Given the description of an element on the screen output the (x, y) to click on. 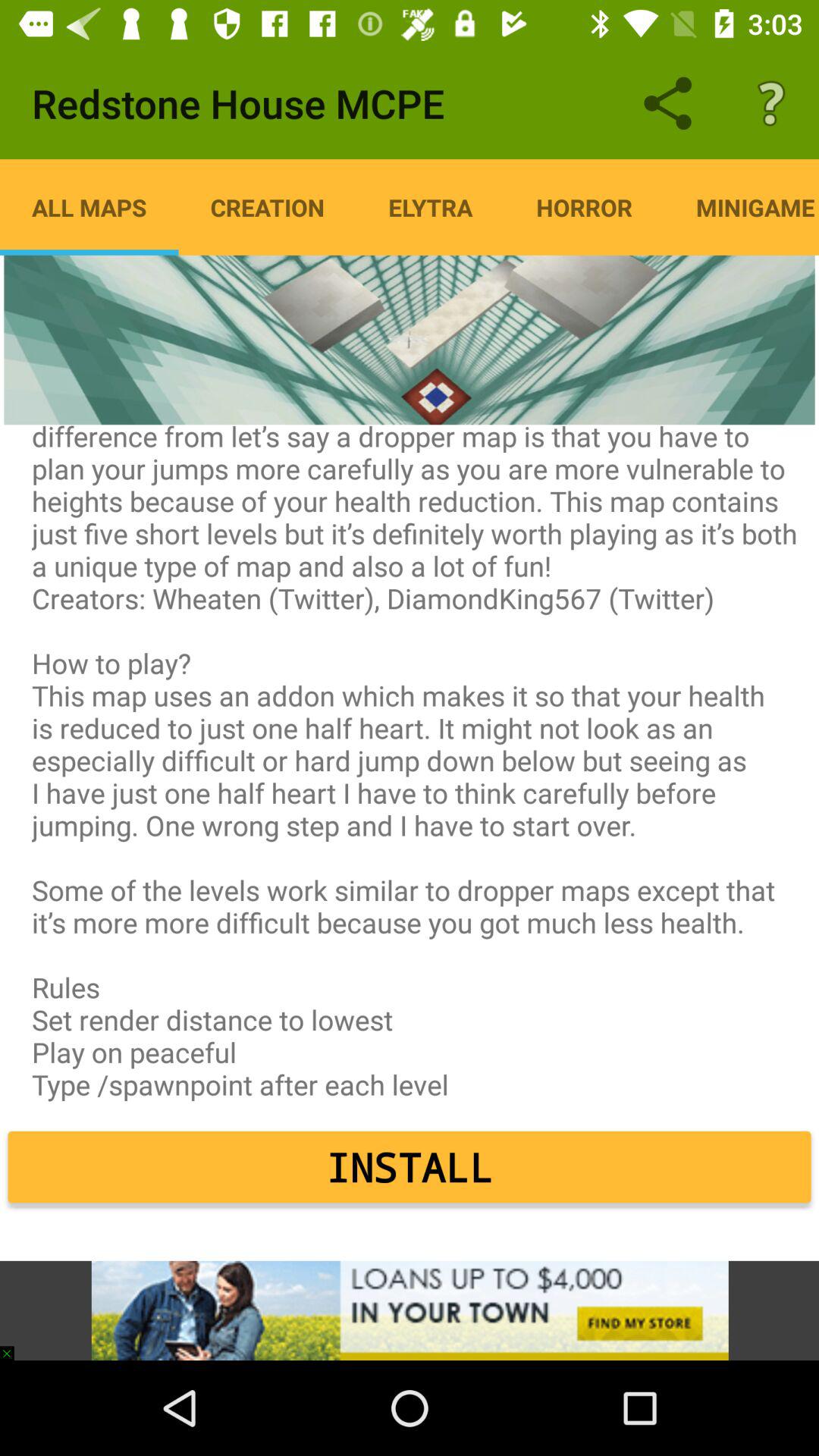
turn off the install (409, 1166)
